Given the description of an element on the screen output the (x, y) to click on. 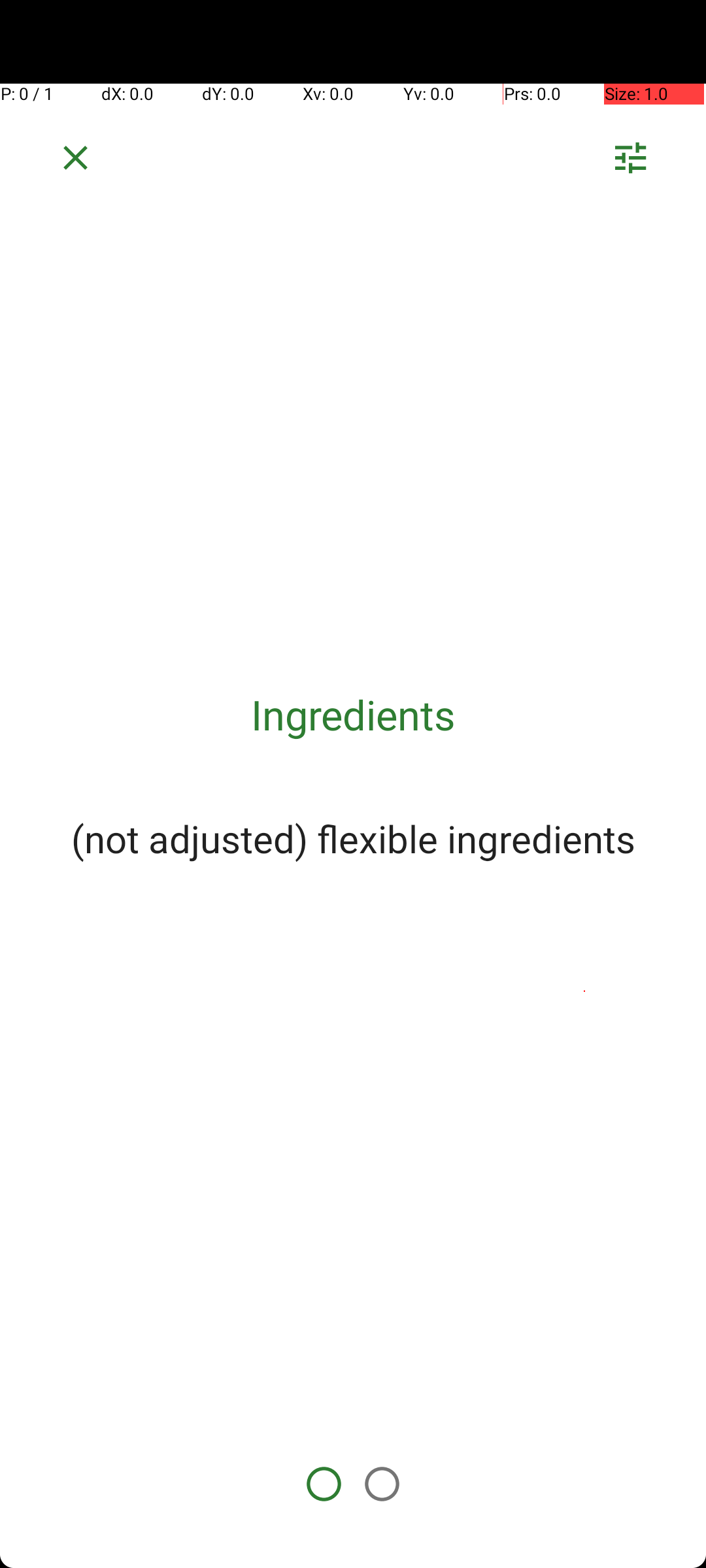
(not adjusted) flexible ingredients Element type: android.widget.TextView (352, 838)
